Given the description of an element on the screen output the (x, y) to click on. 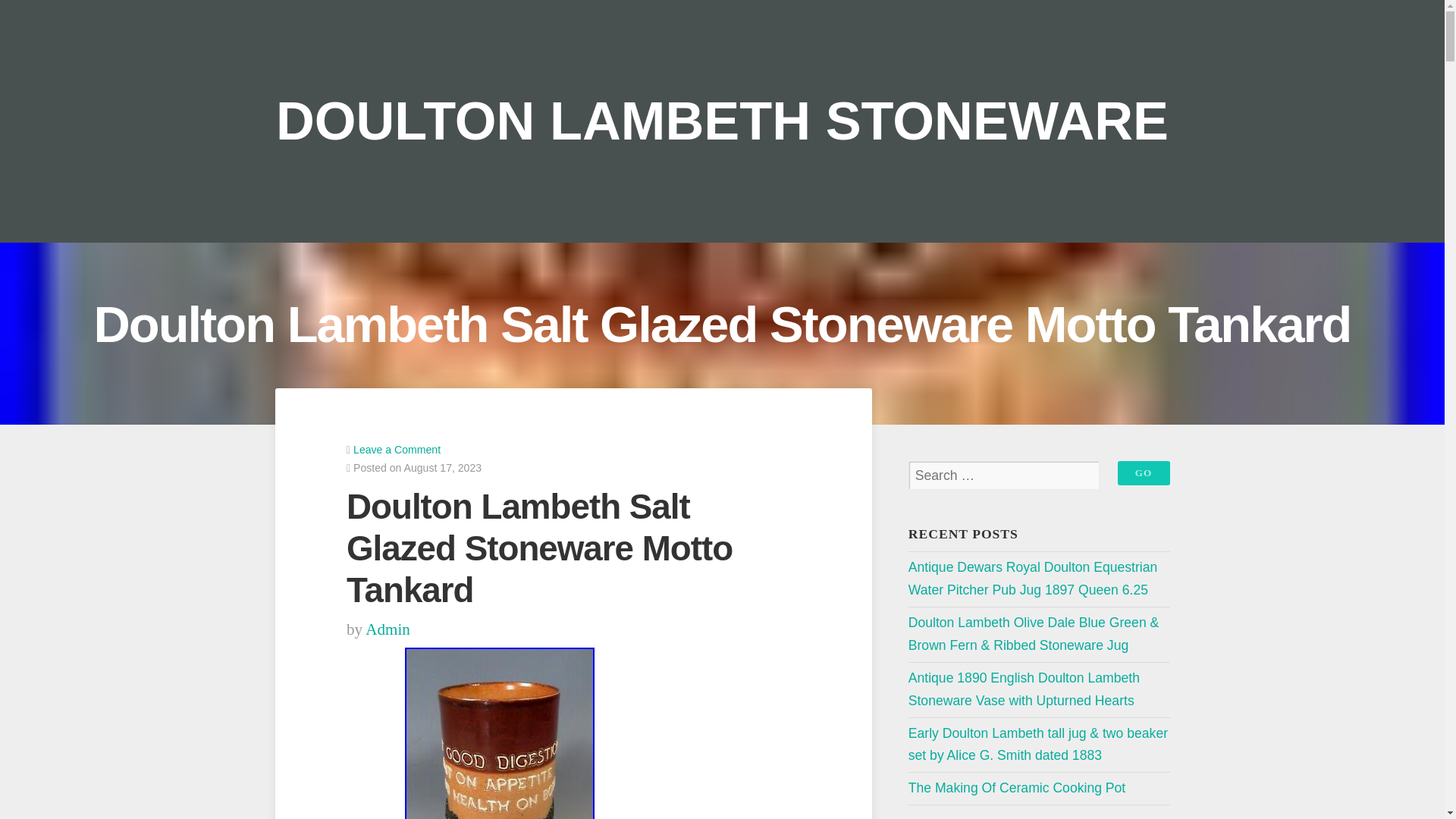
The Making Of Ceramic Cooking Pot (1016, 787)
Posts by admin (387, 628)
Leave a Comment (397, 449)
DOULTON LAMBETH STONEWARE (722, 120)
Admin (387, 628)
Doulton Lambeth Salt Glazed Stoneware Motto Tankard (499, 733)
Go (1144, 473)
Go (1144, 473)
